Given the description of an element on the screen output the (x, y) to click on. 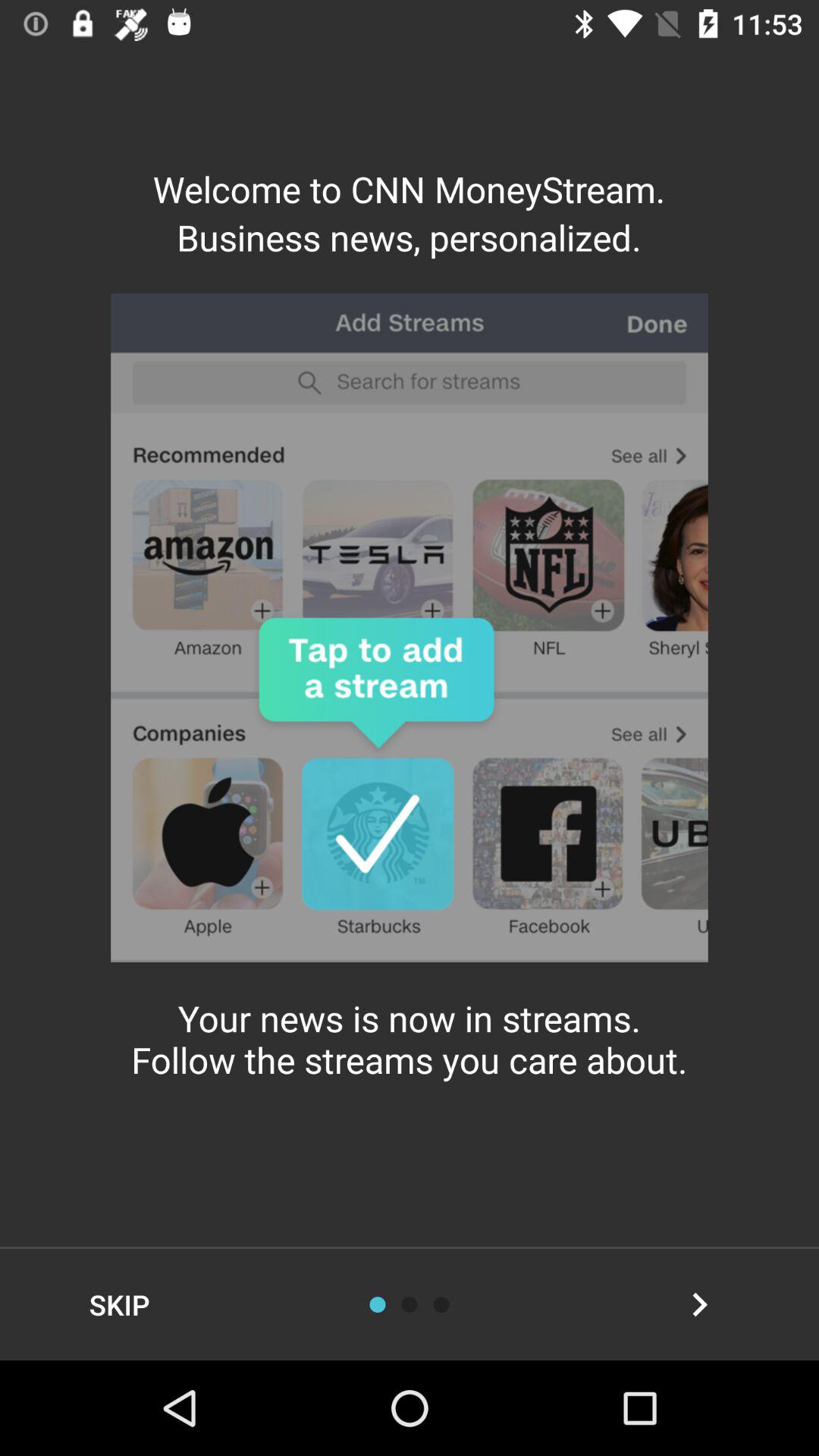
navigate to next screen (699, 1304)
